Given the description of an element on the screen output the (x, y) to click on. 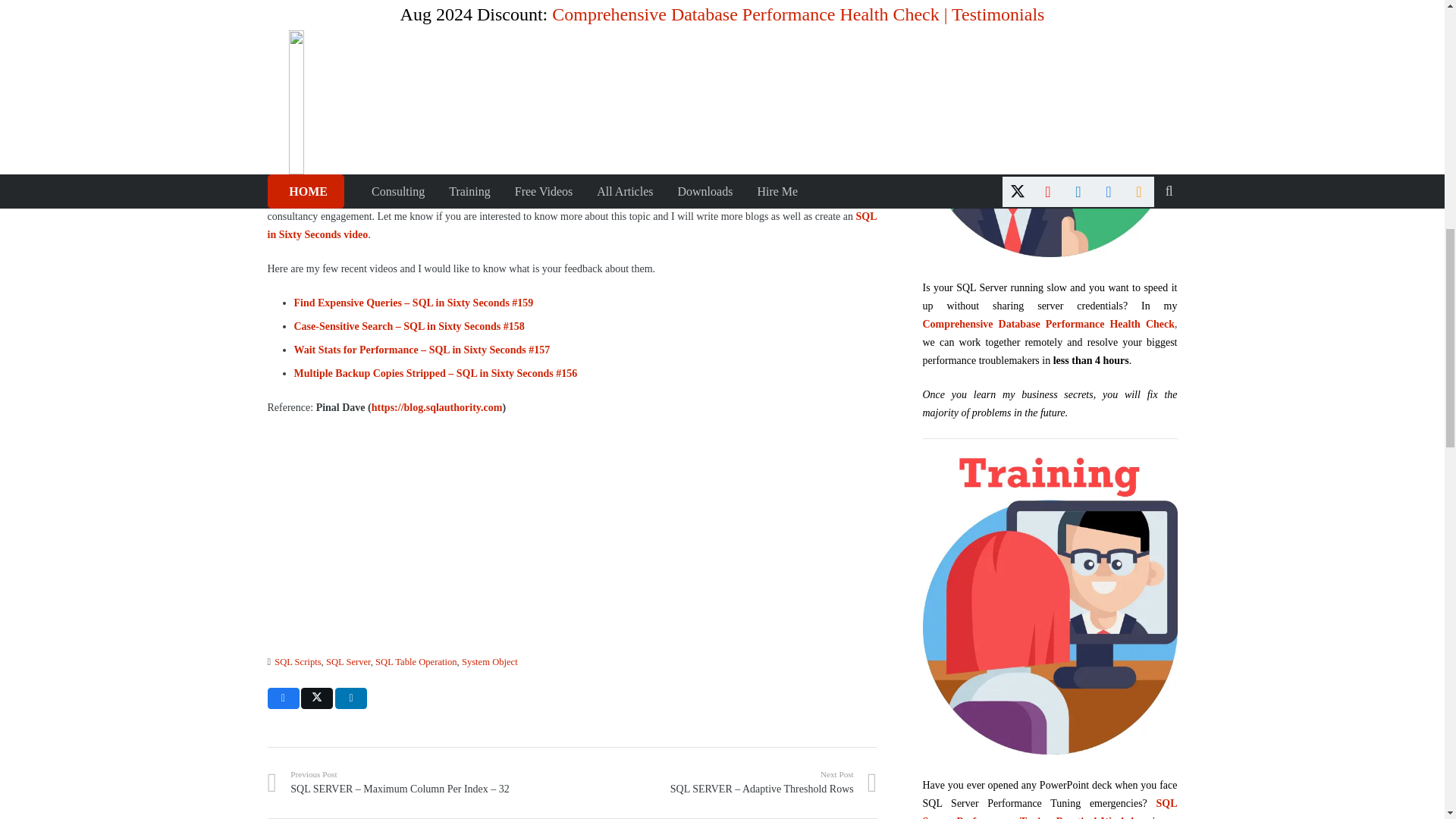
Share this (282, 698)
Tweet this (317, 698)
Share this (350, 698)
SQL Server (348, 661)
SQL in Sixty Seconds video (571, 225)
SQL Scripts (297, 661)
SQL SERVER - Table or View - OBJECTPROPERTY OBJECTPROPERTY  (410, 66)
